Given the description of an element on the screen output the (x, y) to click on. 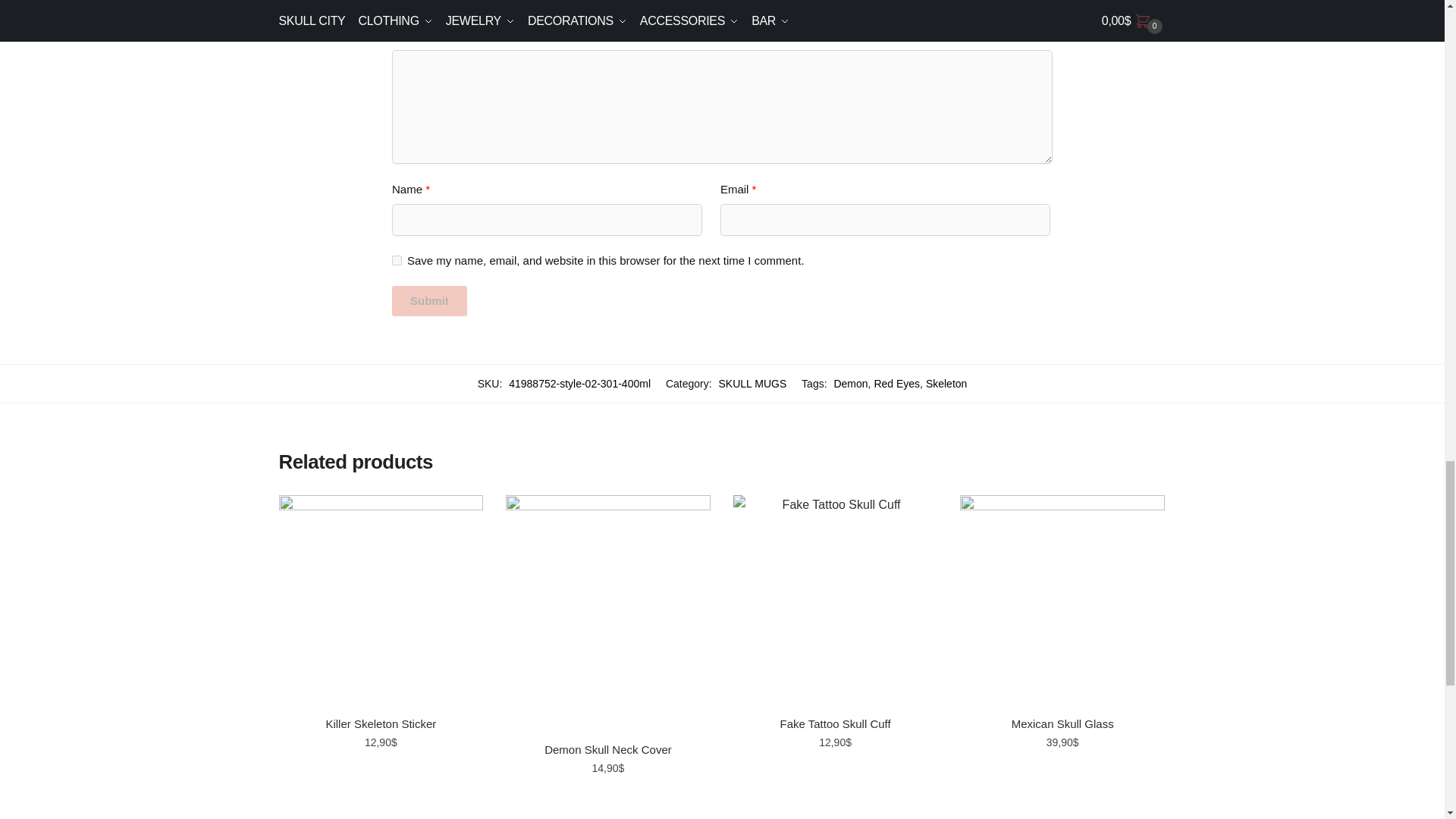
Submit (429, 300)
yes (396, 260)
